Given the description of an element on the screen output the (x, y) to click on. 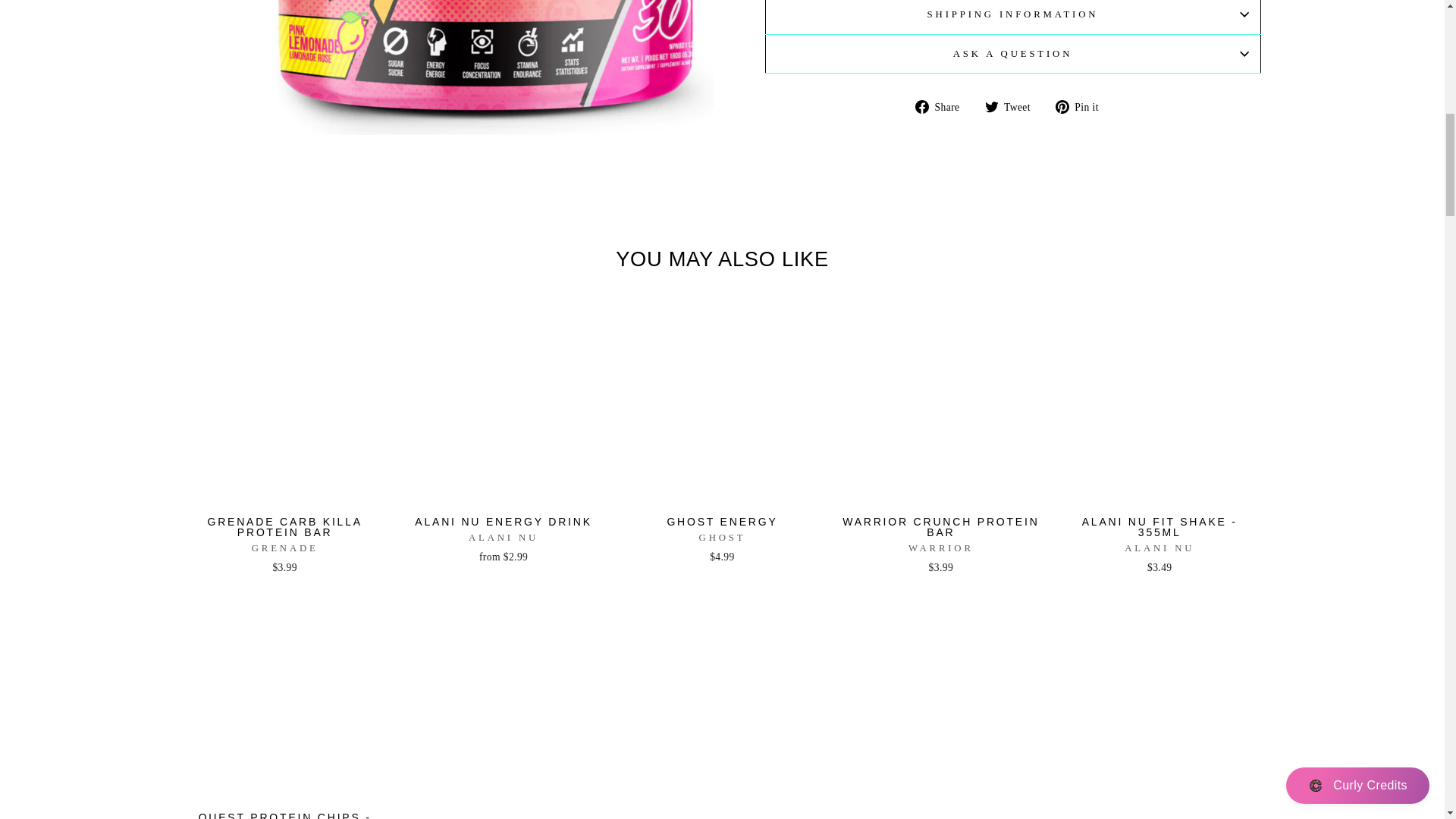
Tweet on Twitter (1013, 106)
twitter (991, 106)
Share on Facebook (943, 106)
Pin on Pinterest (1082, 106)
